Given the description of an element on the screen output the (x, y) to click on. 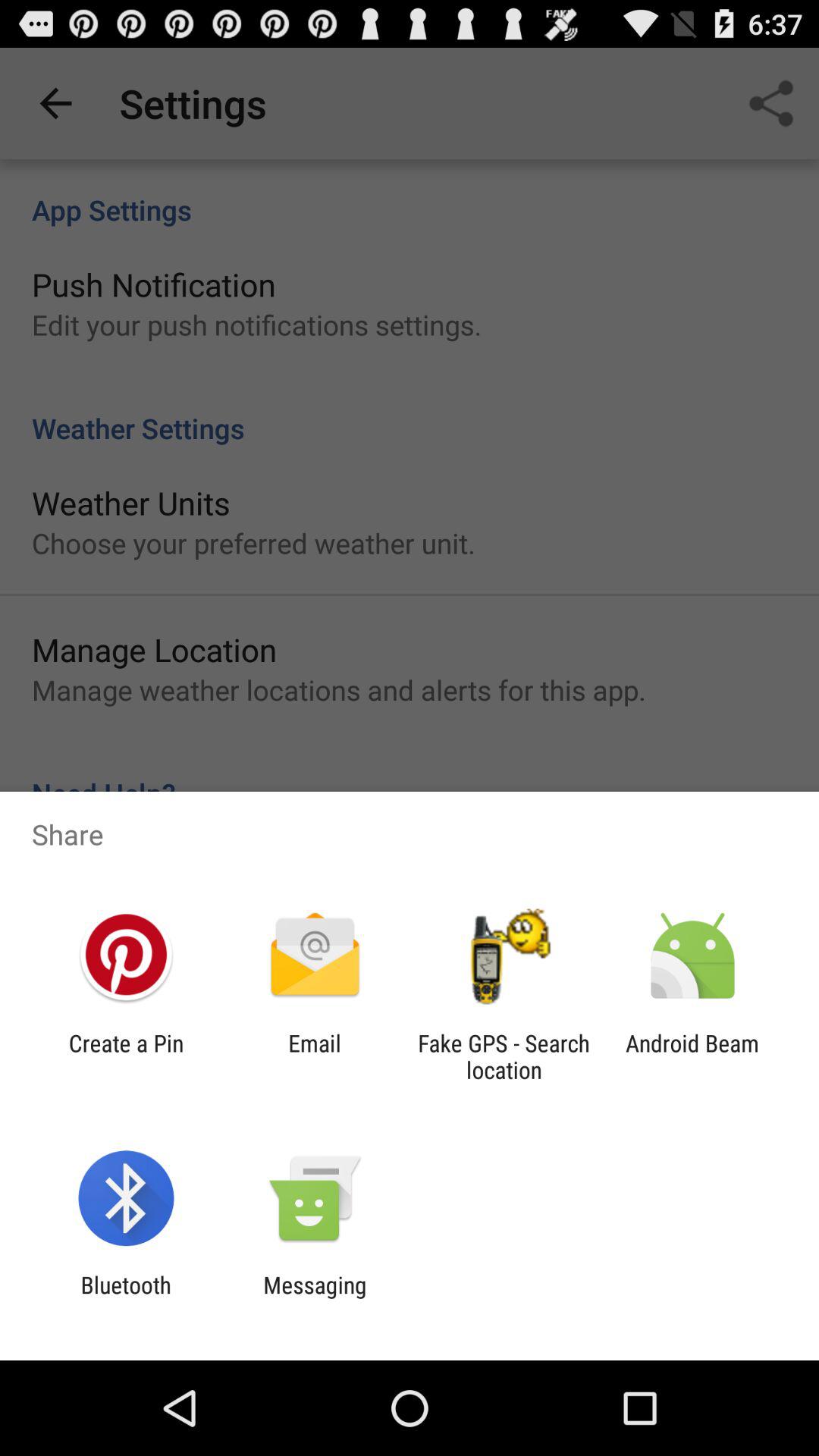
turn on item next to the bluetooth app (314, 1298)
